Given the description of an element on the screen output the (x, y) to click on. 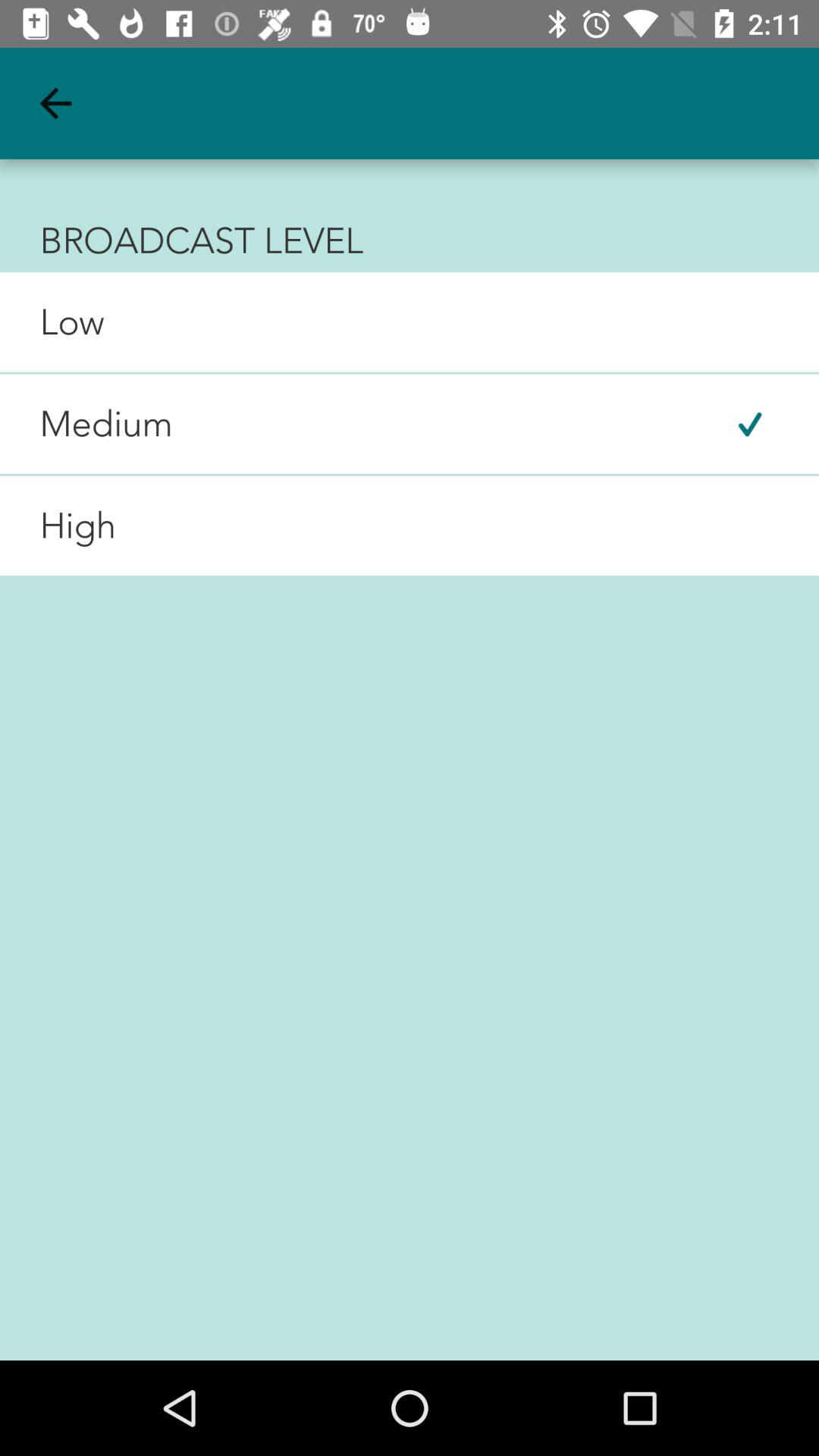
jump until the high item (58, 525)
